Given the description of an element on the screen output the (x, y) to click on. 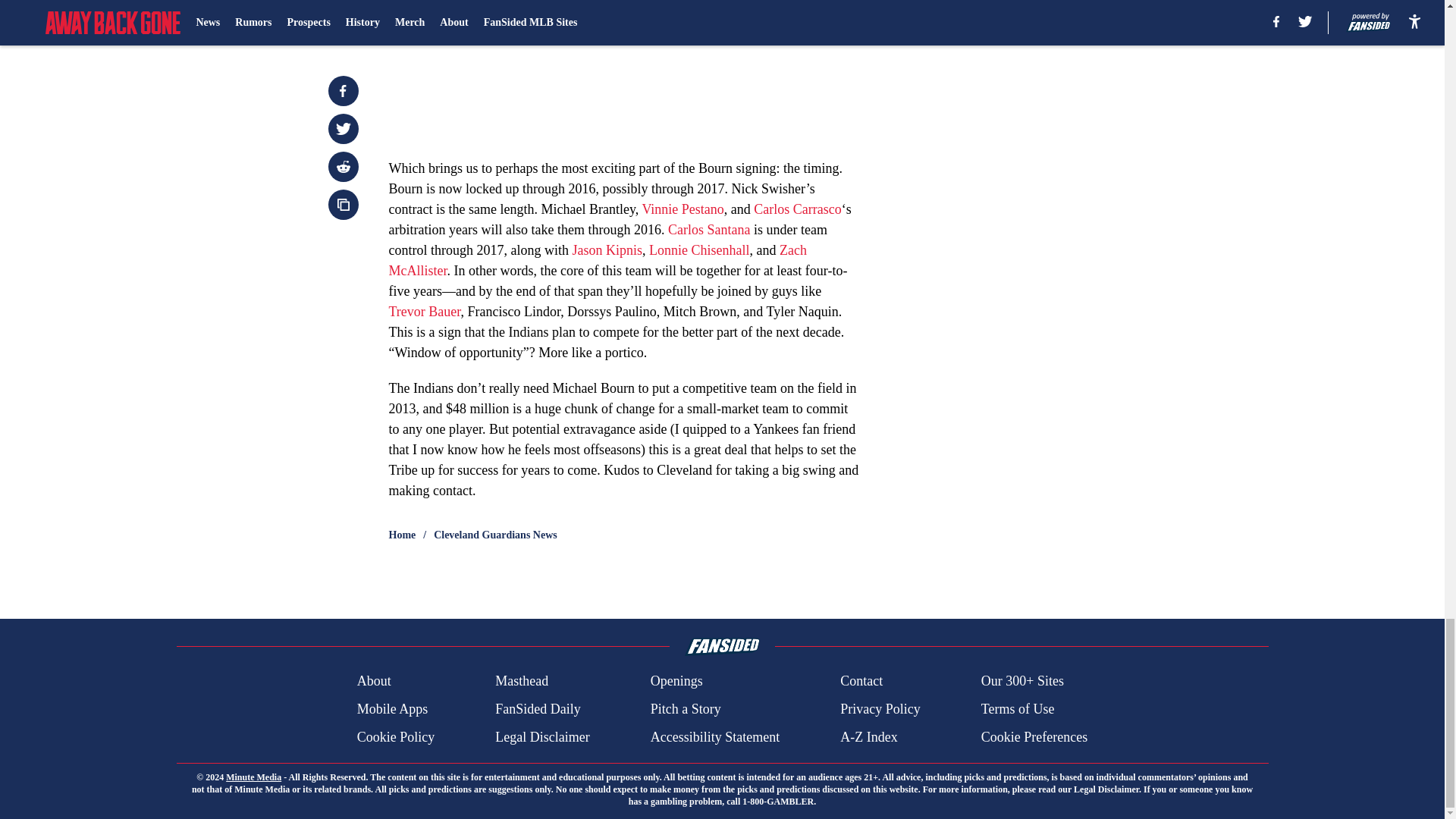
Carlos Carrasco (797, 209)
Vinnie Pestano (682, 209)
